Given the description of an element on the screen output the (x, y) to click on. 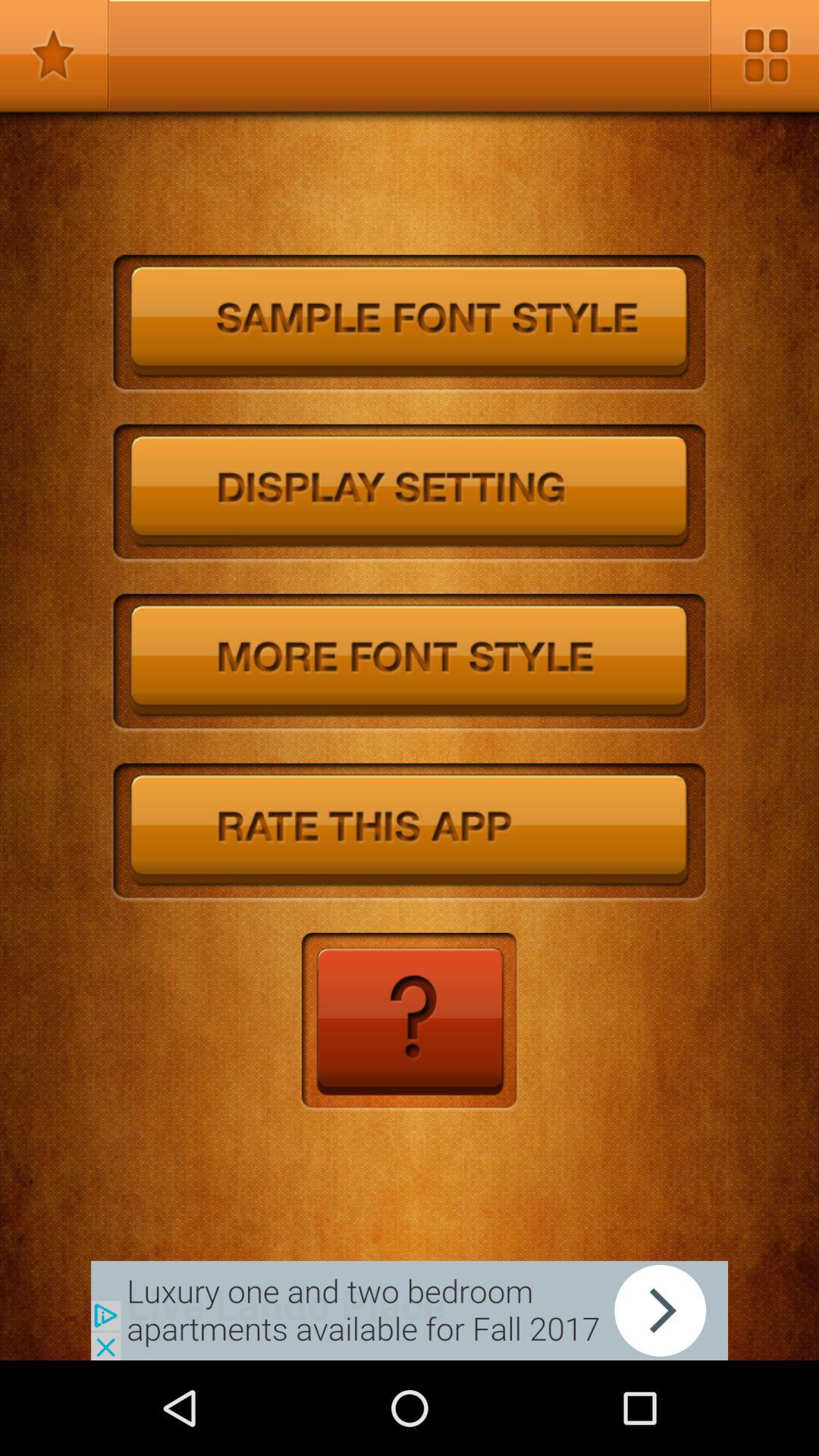
more settings for display (409, 493)
